Given the description of an element on the screen output the (x, y) to click on. 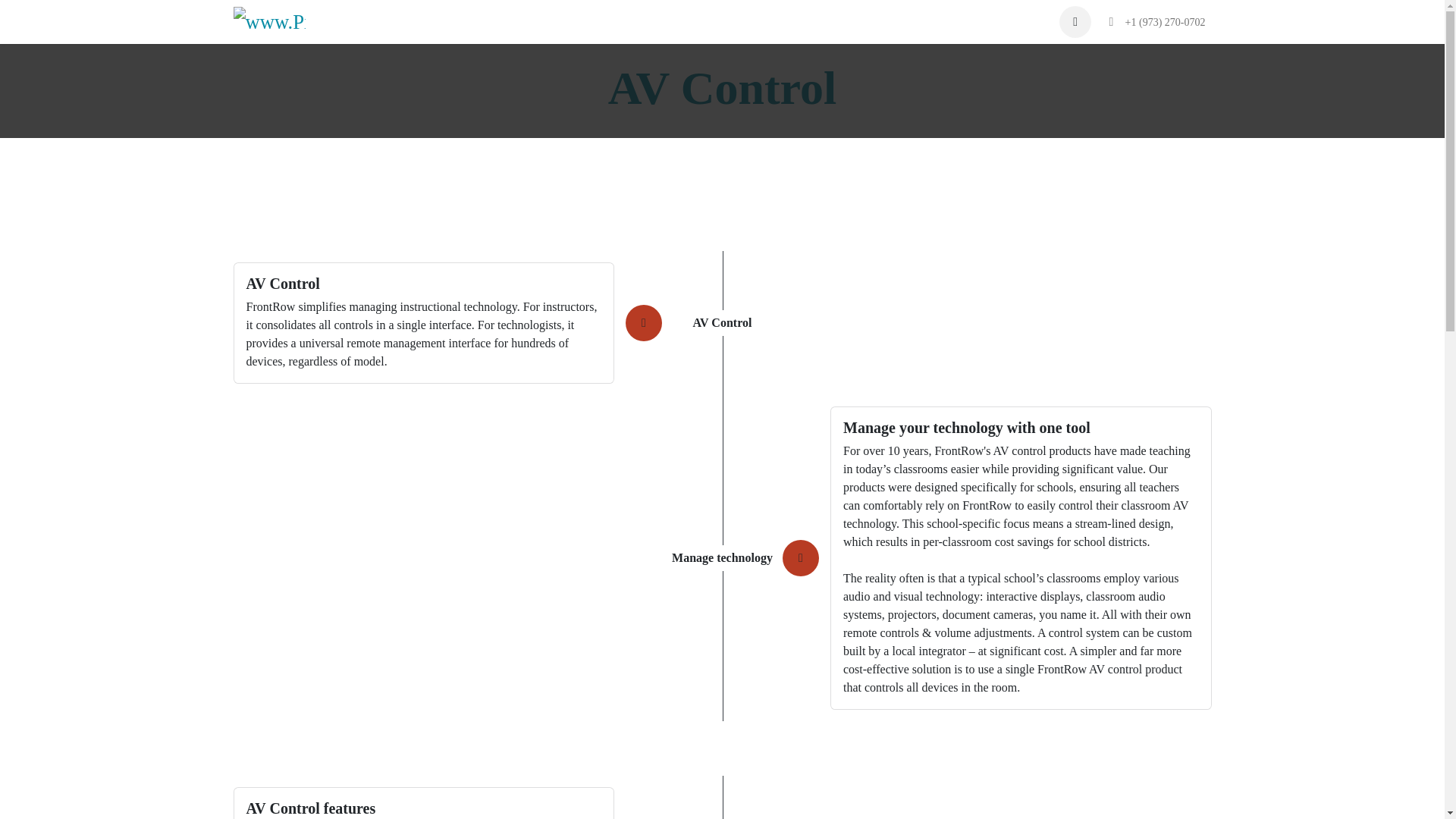
www.Pivotal-NJ.com (268, 21)
Search (1074, 21)
